Given the description of an element on the screen output the (x, y) to click on. 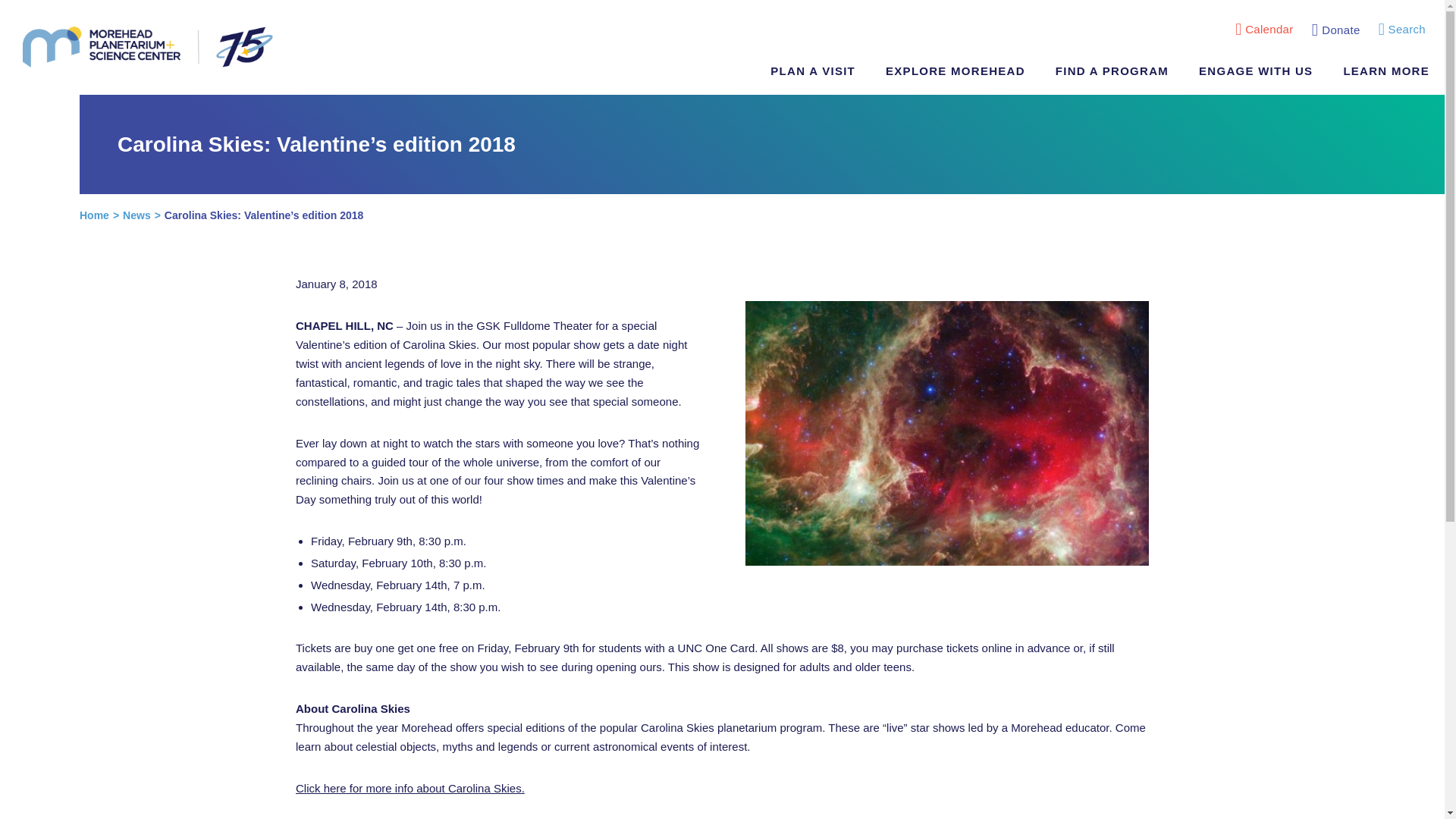
Donate (1336, 29)
EXPLORE MOREHEAD (955, 71)
LEARN MORE (1385, 71)
PLAN A VISIT (813, 71)
Calendar (1263, 29)
ENGAGE WITH US (1255, 71)
FIND A PROGRAM (1112, 71)
Search (1401, 29)
